Given the description of an element on the screen output the (x, y) to click on. 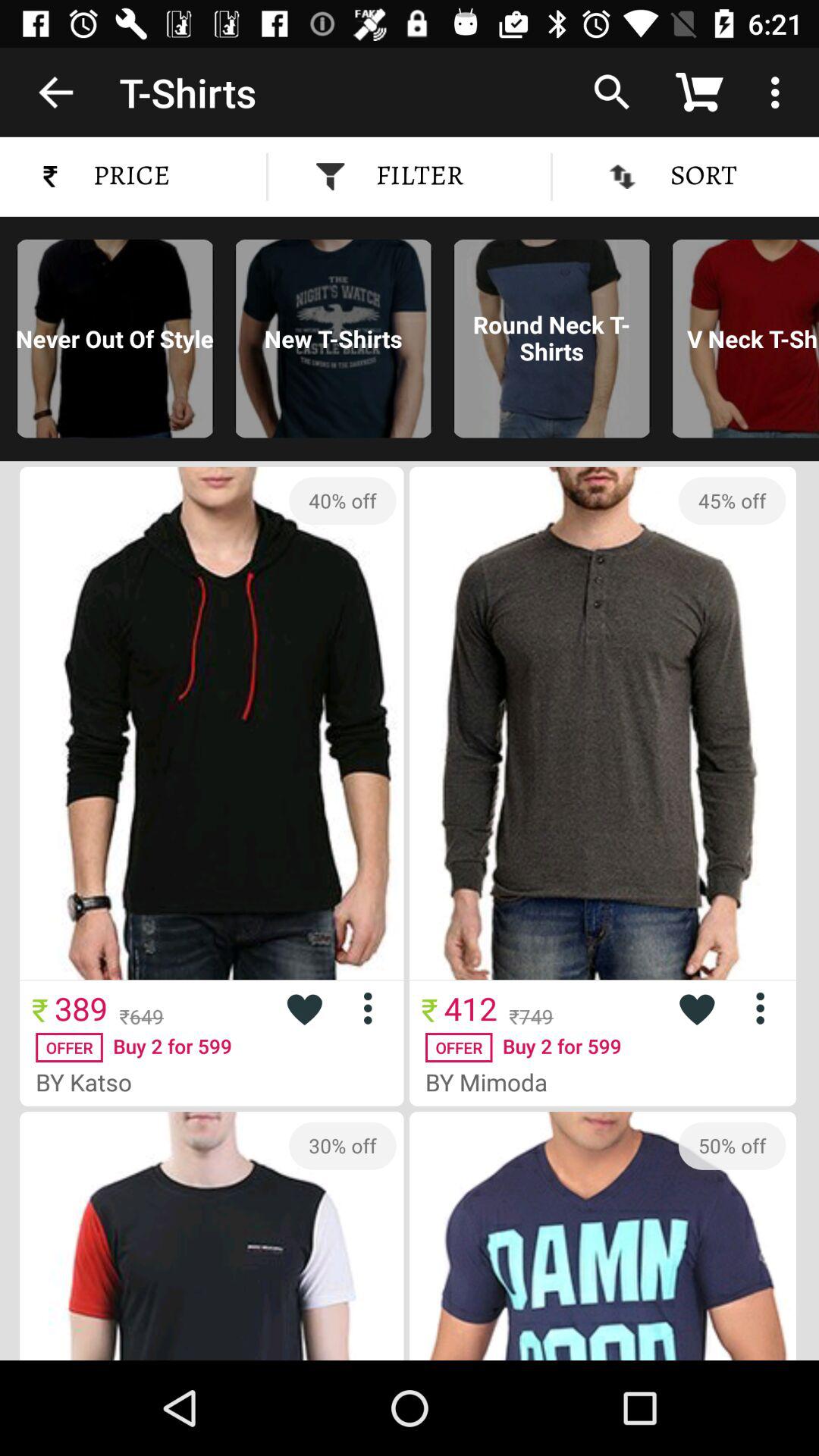
like (696, 1008)
